Given the description of an element on the screen output the (x, y) to click on. 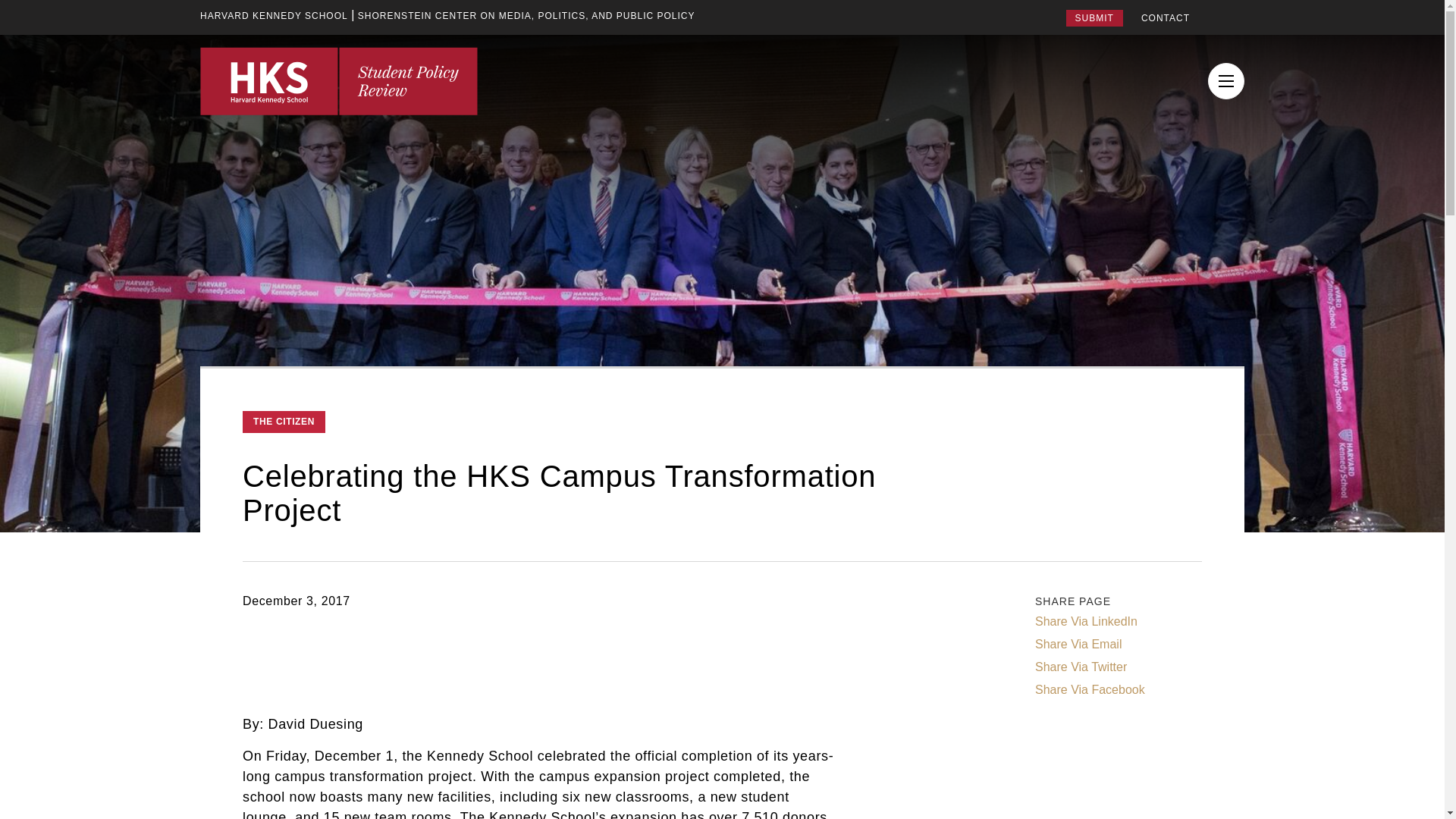
Share Via Twitter (1080, 667)
Share Via Email (1078, 644)
SHORENSTEIN CENTER ON MEDIA, POLITICS, AND PUBLIC POLICY (526, 15)
HARVARD KENNEDY SCHOOL (273, 15)
Share Via LinkedIn (1086, 621)
SUBMIT (1093, 17)
HKS Student Policy Review (338, 80)
Share Via Facebook (1089, 689)
CONTACT (1165, 18)
Harvard Kennedy School (273, 15)
